Given the description of an element on the screen output the (x, y) to click on. 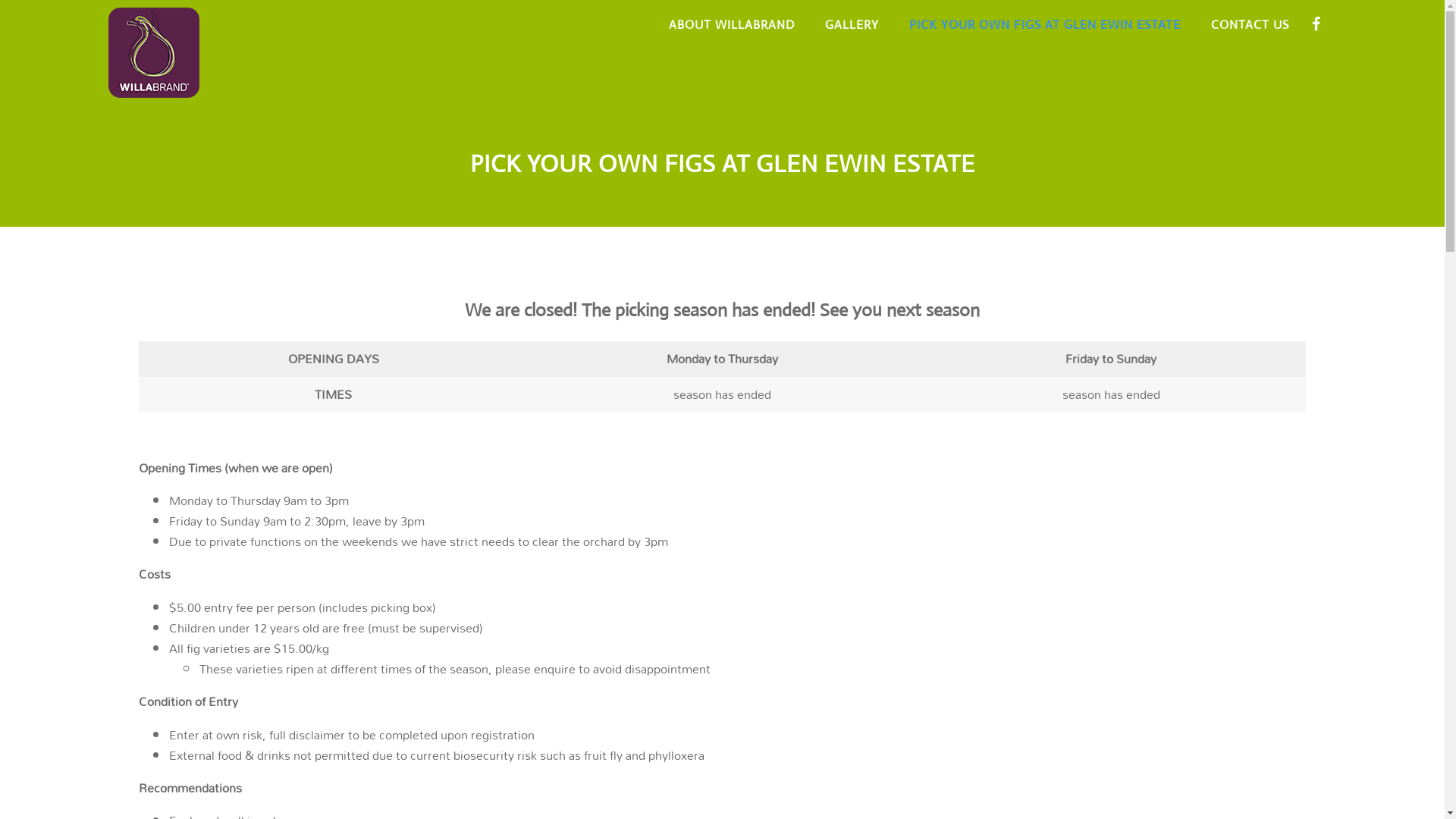
CONTACT US Element type: text (1249, 24)
ABOUT WILLABRAND Element type: text (731, 24)
PICK YOUR OWN FIGS AT GLEN EWIN ESTATE Element type: text (1044, 24)
GALLERY Element type: text (851, 24)
